Given the description of an element on the screen output the (x, y) to click on. 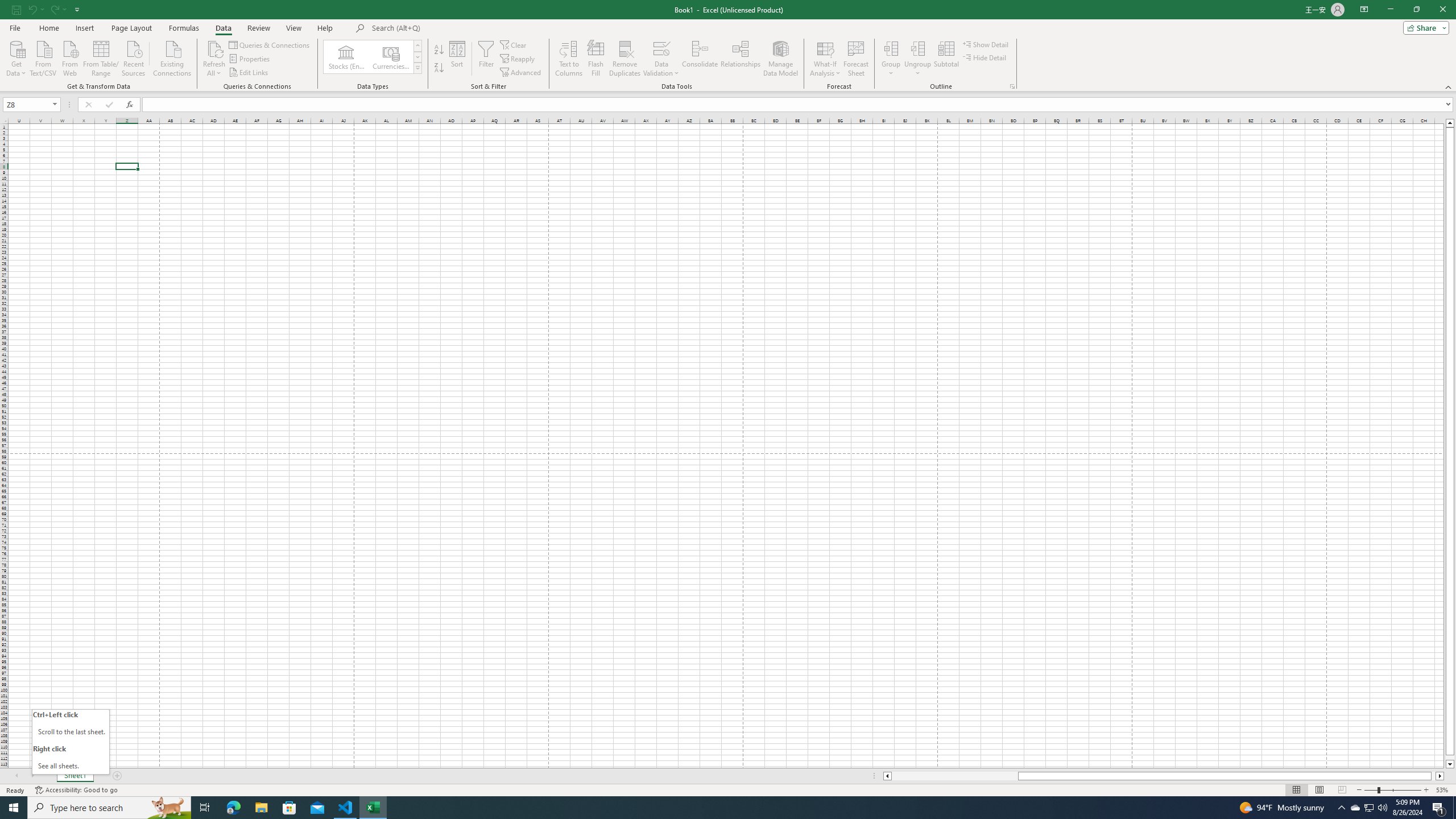
Class: NetUIImage (418, 68)
Recent Sources (133, 57)
Formula Bar (798, 104)
Forecast Sheet (856, 58)
Consolidate... (700, 58)
Stocks (English) (346, 56)
Text to Columns... (568, 58)
